Given the description of an element on the screen output the (x, y) to click on. 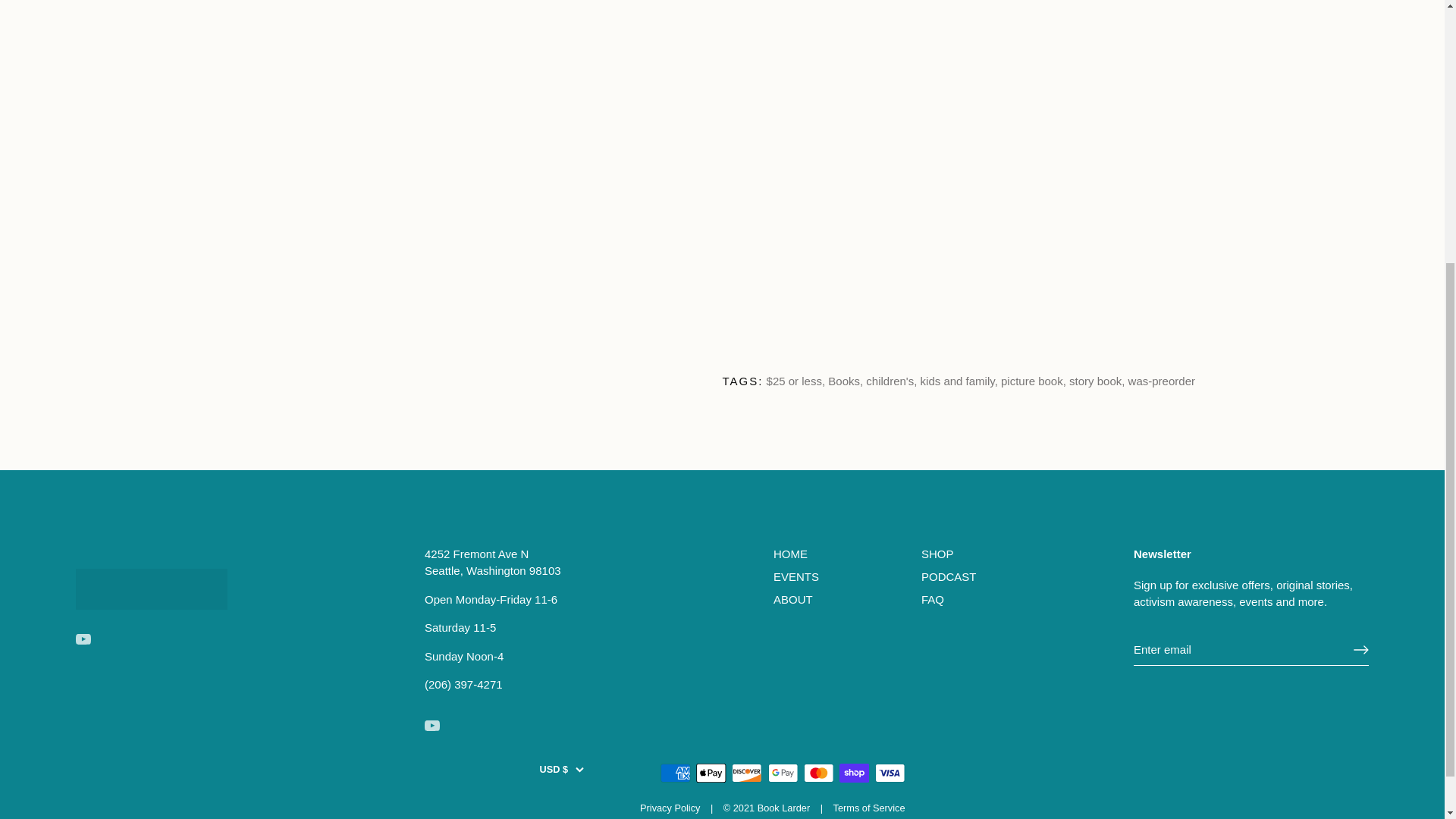
Apple Pay (710, 772)
RIGHT ARROW LONG (1361, 649)
American Express (675, 772)
Discover (746, 772)
Youtube (432, 725)
Youtube (82, 639)
Shop Pay (854, 772)
Google Pay (782, 772)
Visa (890, 772)
Mastercard (818, 772)
